Given the description of an element on the screen output the (x, y) to click on. 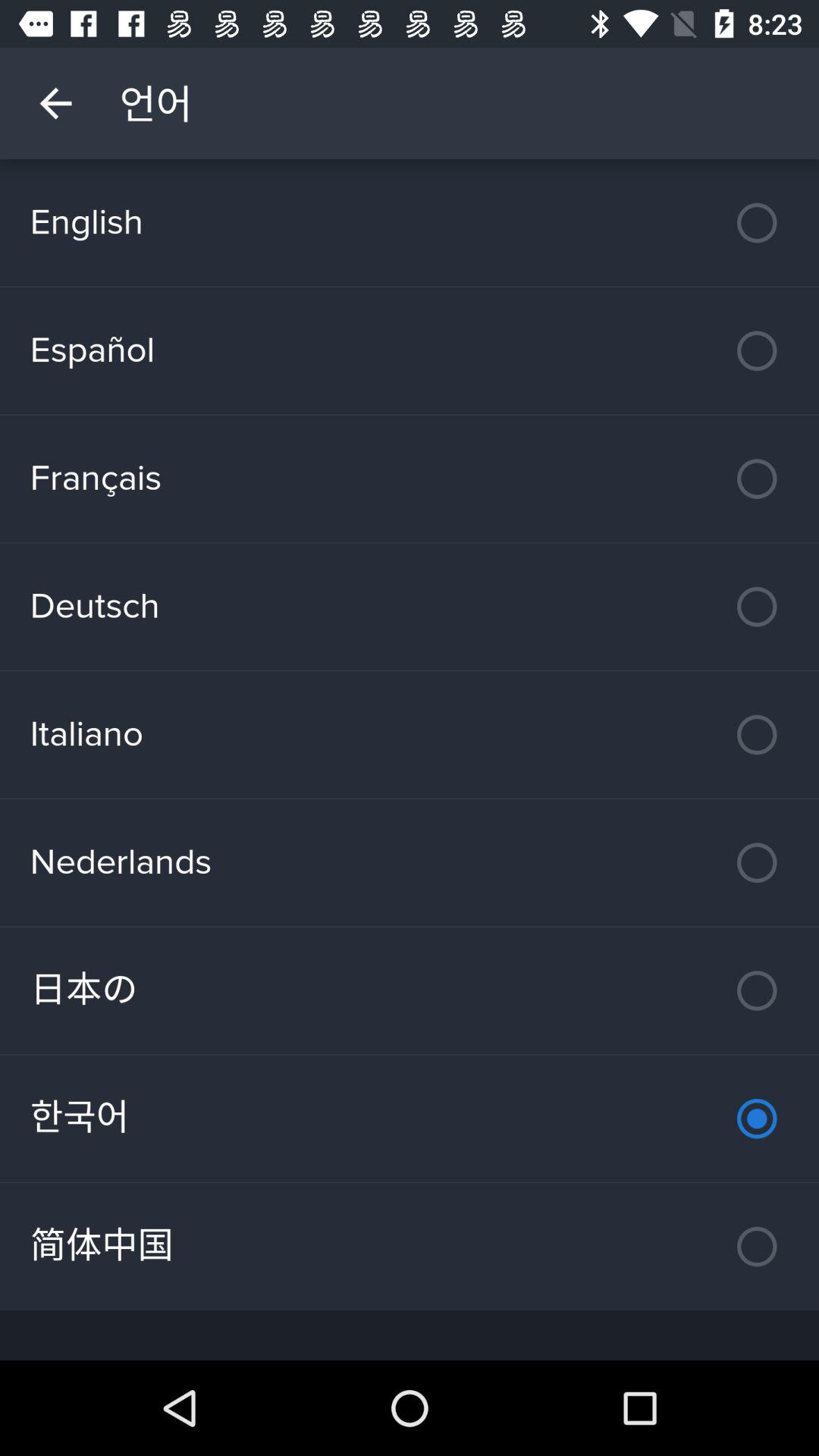
turn on item below the italiano icon (409, 862)
